Given the description of an element on the screen output the (x, y) to click on. 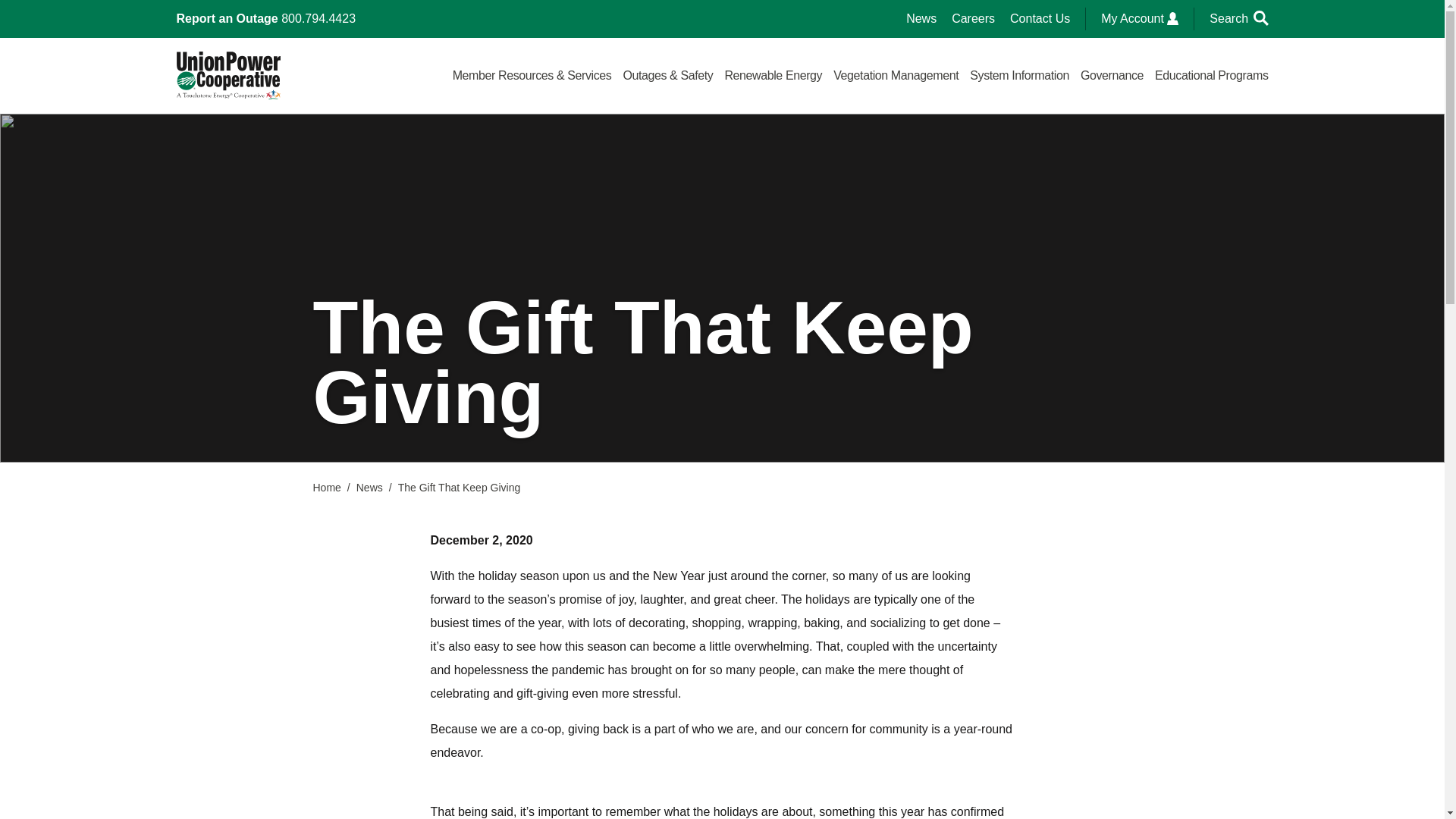
News (920, 18)
Careers (973, 18)
Contact Us (1040, 18)
Report an Outage (227, 18)
Search (1238, 18)
My Account (1138, 18)
800.794.4423 (318, 18)
